Given the description of an element on the screen output the (x, y) to click on. 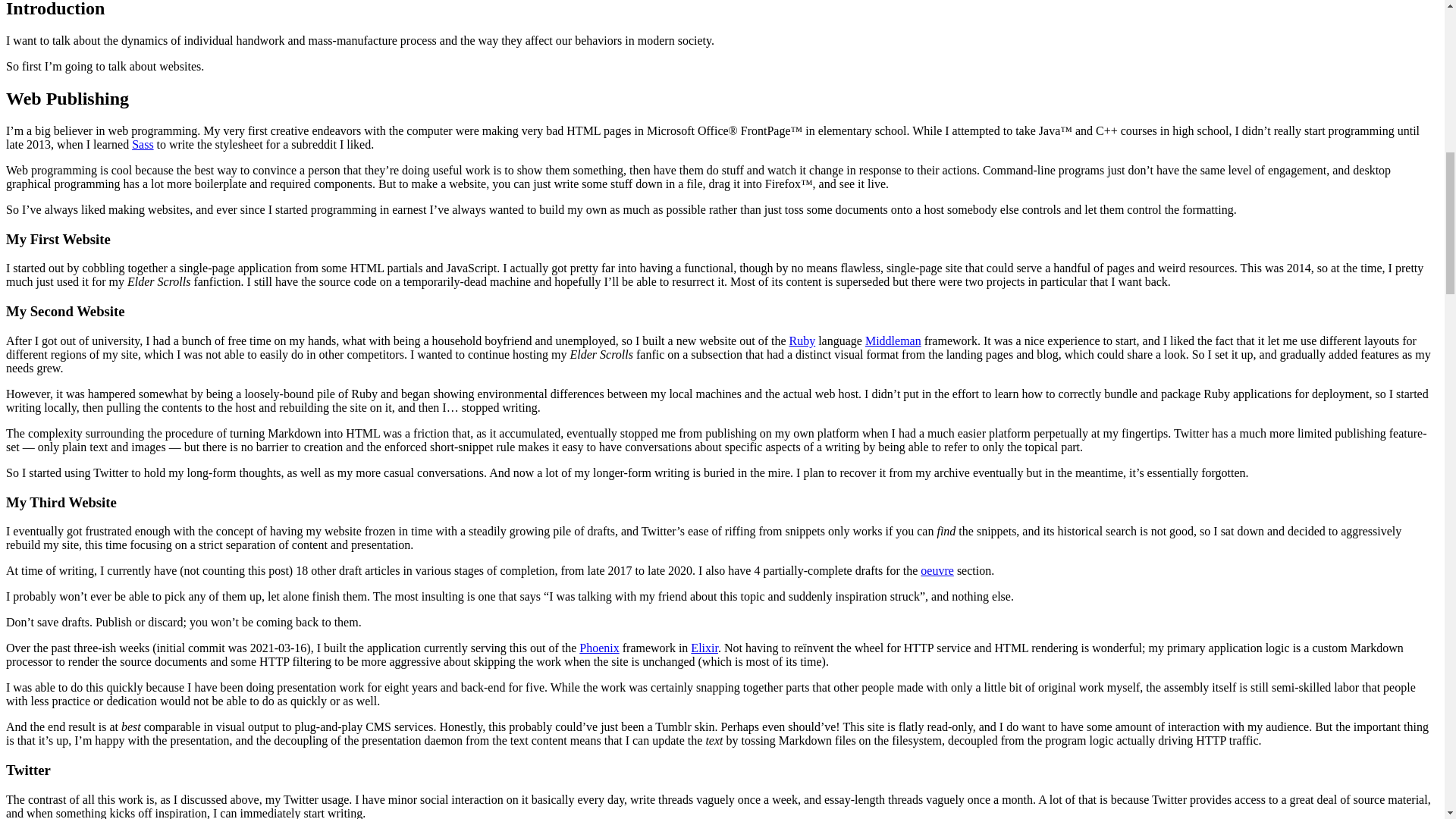
Phoenix (598, 647)
oeuvre (936, 570)
Sass (142, 144)
Elixir (703, 647)
Ruby (802, 340)
Middleman (892, 340)
